Given the description of an element on the screen output the (x, y) to click on. 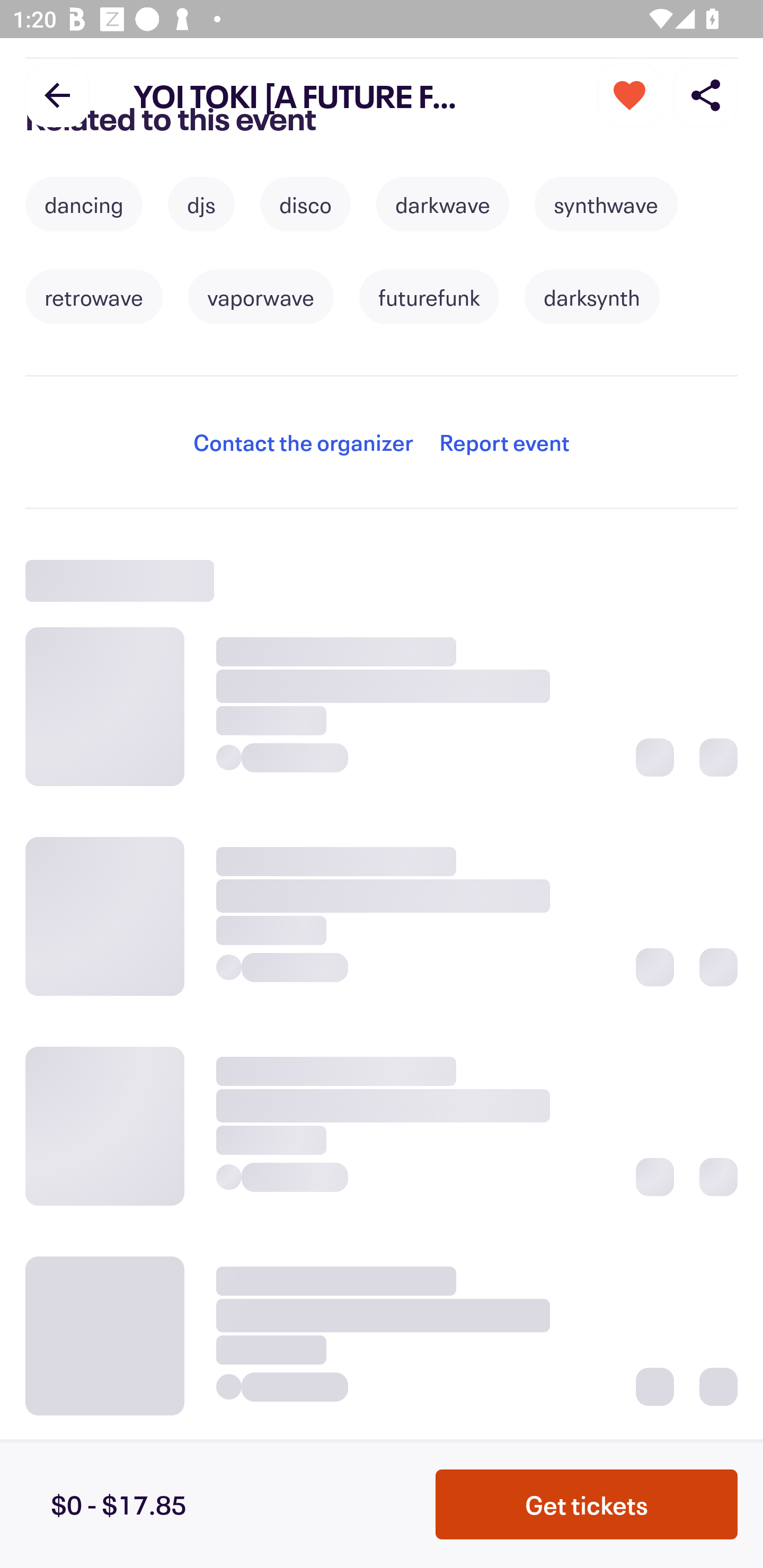
Back (57, 94)
More (629, 94)
Share (705, 94)
dancing (83, 204)
djs (201, 204)
disco (305, 204)
darkwave (442, 204)
synthwave (605, 204)
retrowave (93, 296)
vaporwave (261, 296)
futurefunk (429, 296)
darksynth (591, 296)
Contact the organizer (303, 441)
Report event (504, 441)
Get tickets (586, 1504)
